Given the description of an element on the screen output the (x, y) to click on. 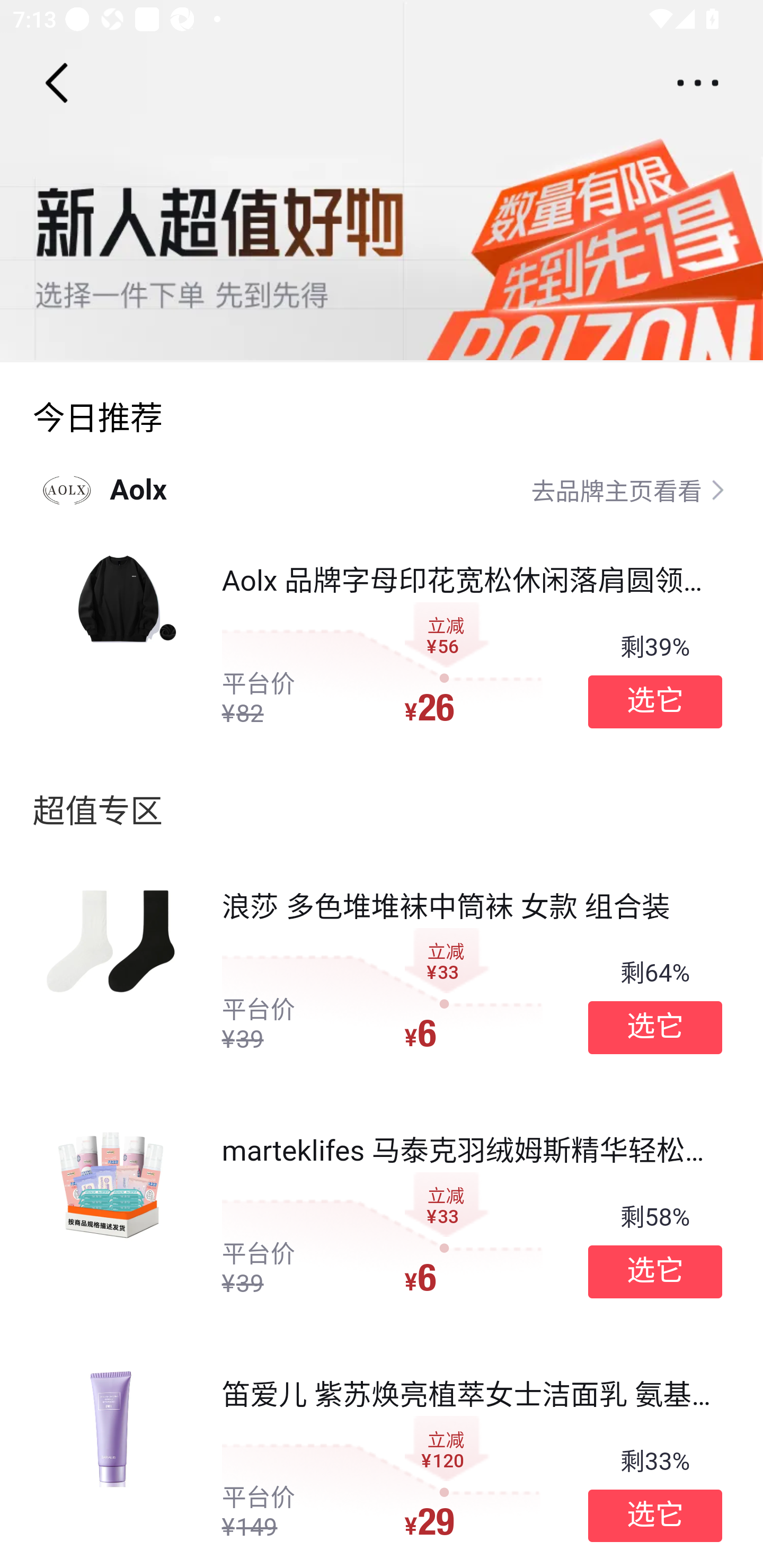
Aolx去品牌主页看看 (381, 489)
选它 (654, 701)
浪莎 多色堆堆袜中筒袜 女款 组合装 平台价 ¥ 39 立减¥33 ¥ 6 剩64% 选它 (381, 971)
选它 (654, 1027)
选它 (654, 1271)
选它 (654, 1515)
